Given the description of an element on the screen output the (x, y) to click on. 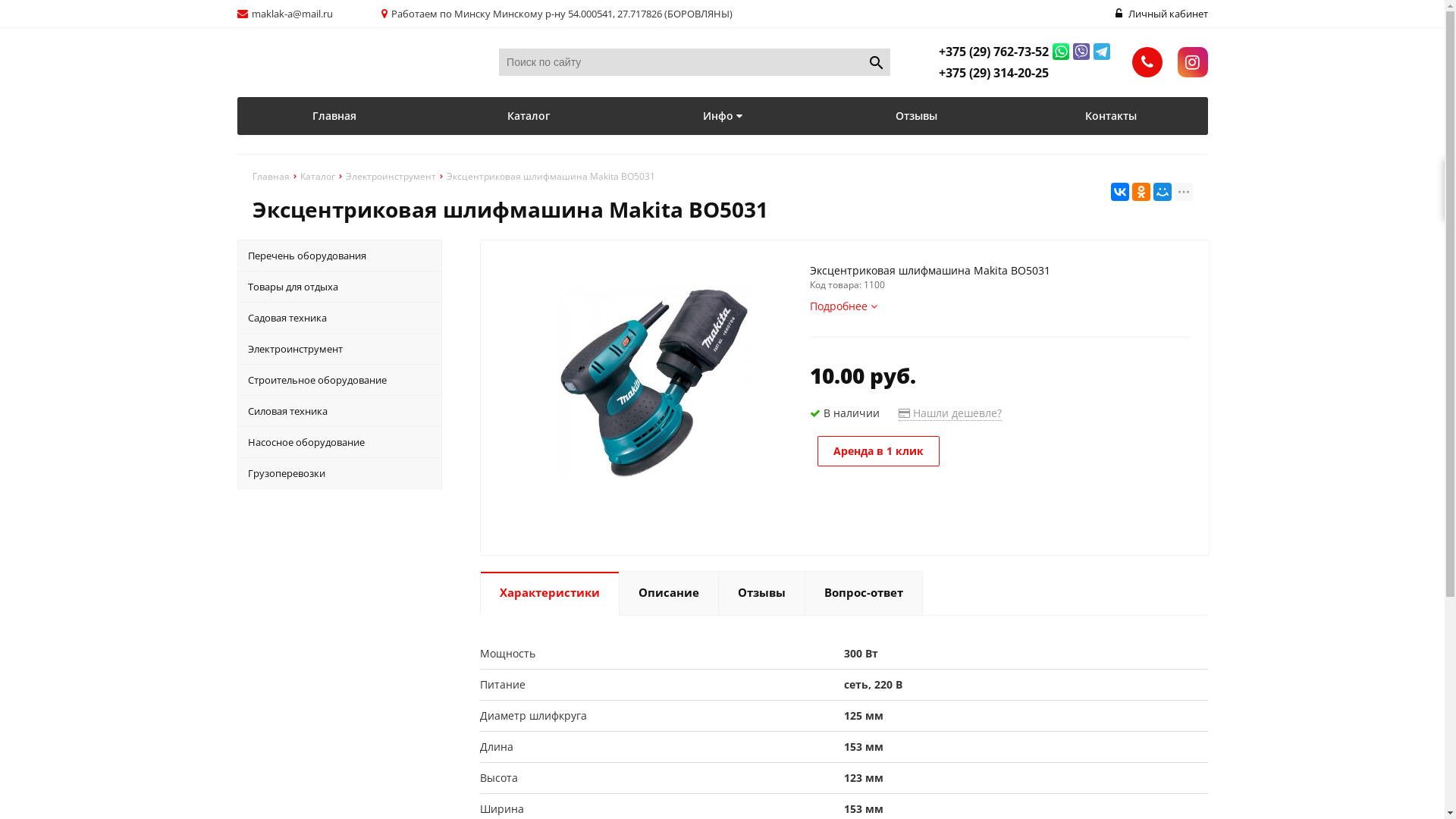
+375 (29) 762-73-52 Element type: text (993, 51)
search Element type: text (876, 61)
+375 (29) 314-20-25 Element type: text (993, 72)
maklak-a@mail.ru Element type: text (291, 13)
